Given the description of an element on the screen output the (x, y) to click on. 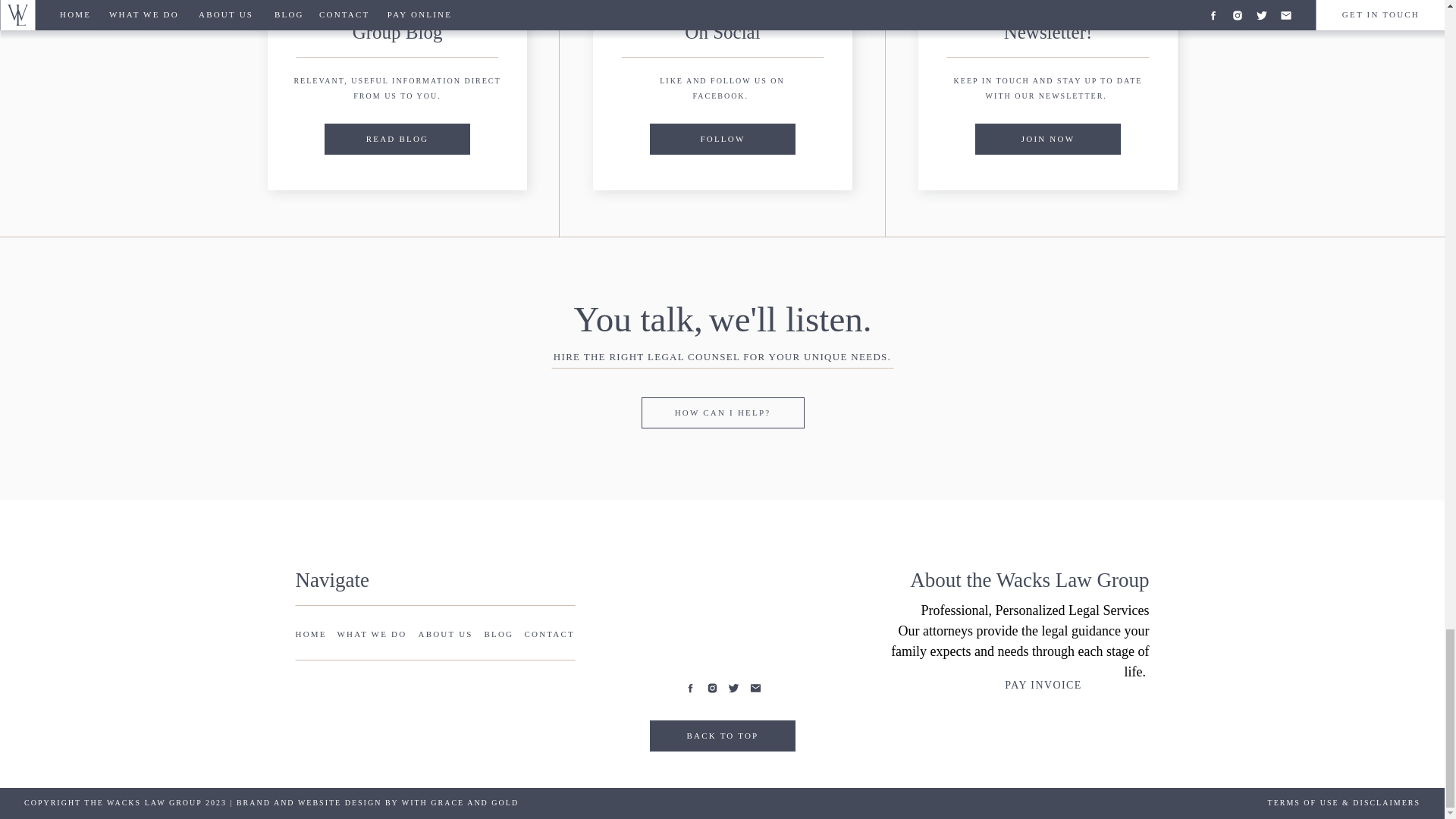
WHAT WE DO (373, 634)
BLOG (497, 634)
HOME (312, 634)
CONTACT (549, 634)
JOIN NOW (1047, 137)
HOW CAN I HELP? (723, 411)
FOLLOW (723, 137)
READ BLOG (397, 137)
ABOUT US (447, 634)
